Given the description of an element on the screen output the (x, y) to click on. 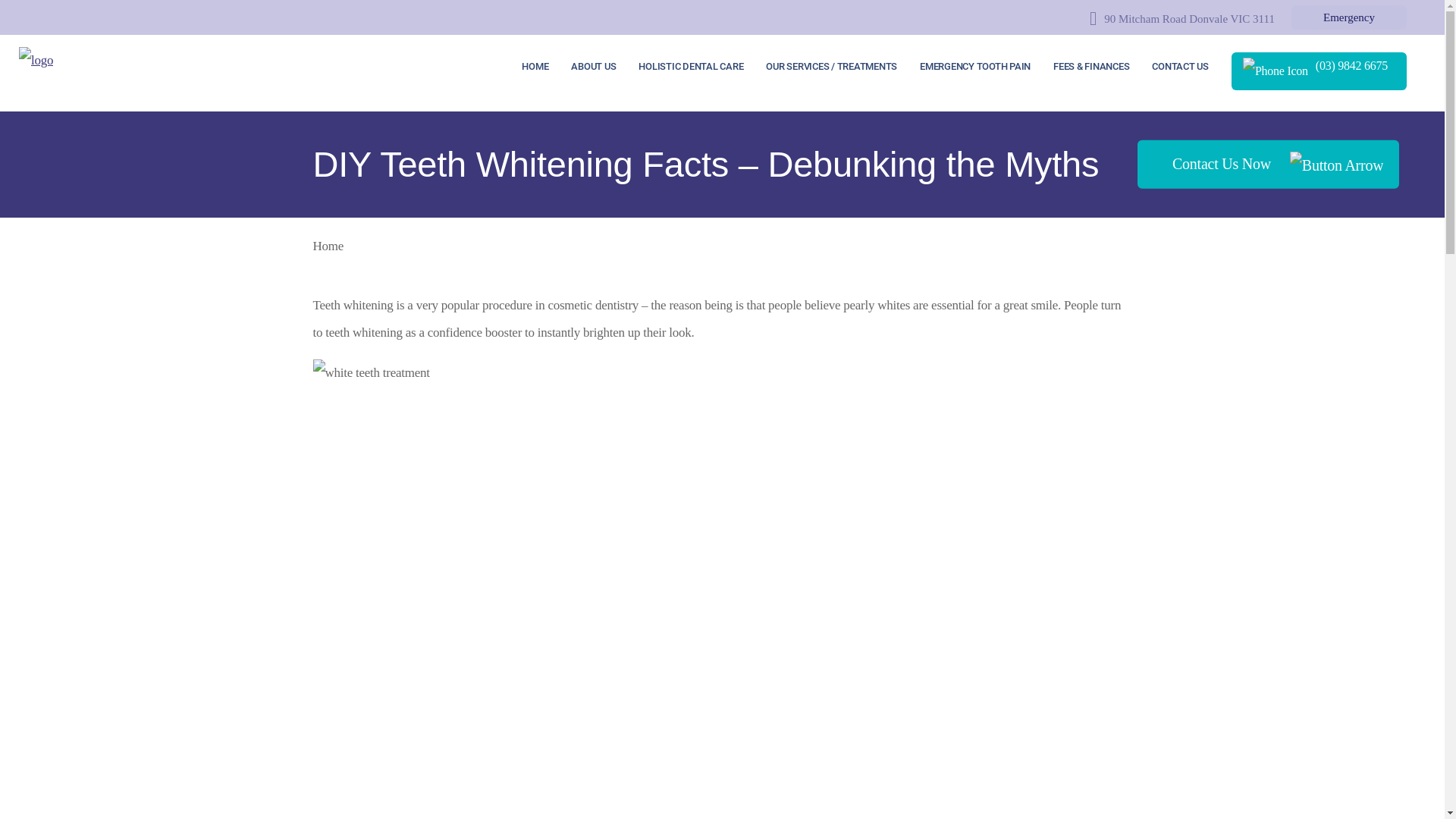
Contact Us Now Element type: text (1268, 164)
OUR SERVICES / TREATMENTS Element type: text (831, 66)
(03) 9842 6675 Element type: text (1318, 71)
Home Element type: text (327, 245)
HOME Element type: text (534, 66)
HOLISTIC DENTAL CARE Element type: text (690, 66)
Emergency Element type: text (1348, 17)
EMERGENCY TOOTH PAIN Element type: text (974, 66)
Holistic Dental Element type: hover (35, 59)
ABOUT US Element type: text (593, 66)
CONTACT US Element type: text (1179, 66)
FEES & FINANCES Element type: text (1091, 66)
90 Mitcham Road Donvale VIC 3111 Element type: text (1181, 18)
